Given the description of an element on the screen output the (x, y) to click on. 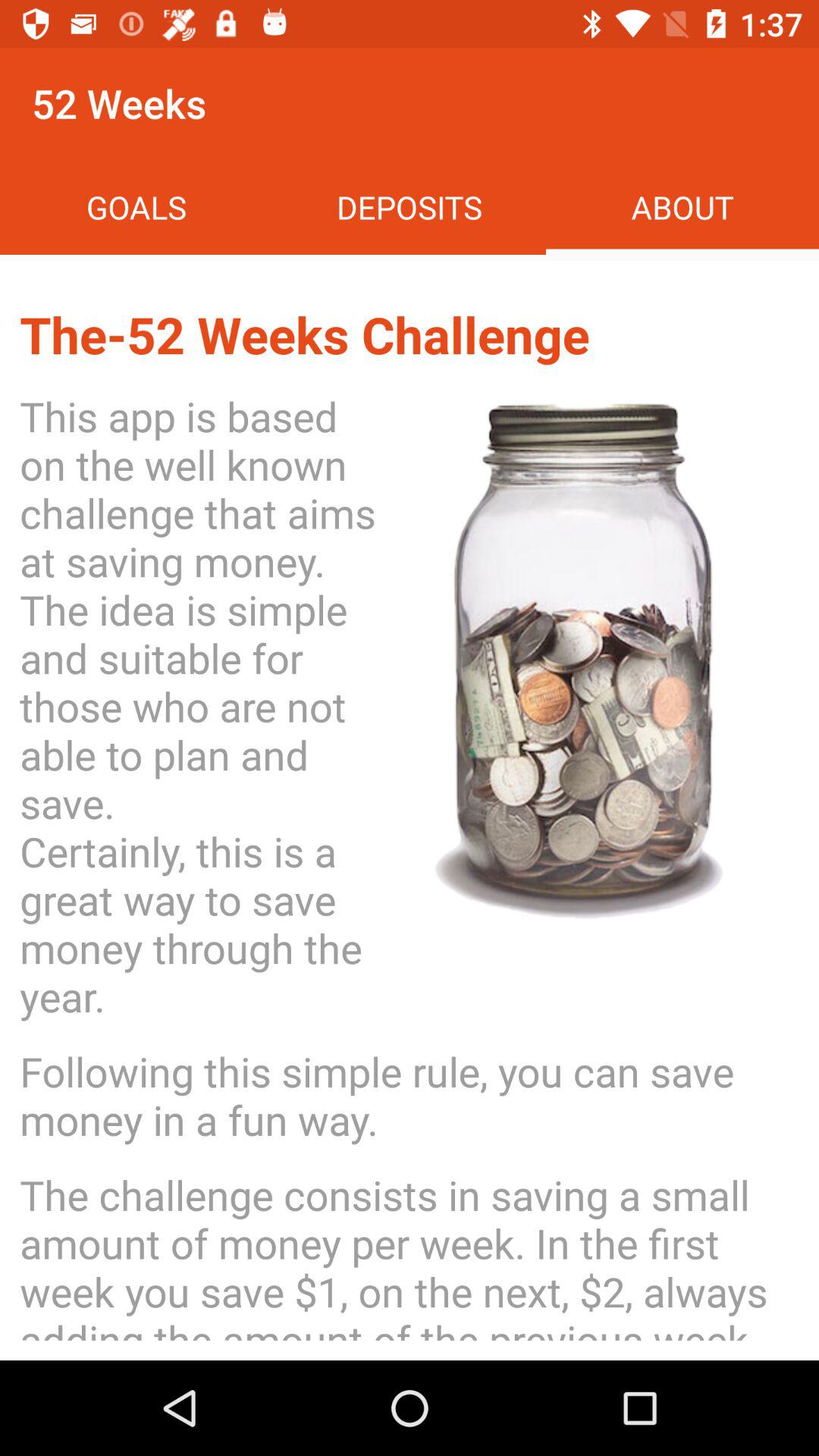
launch the item next to goals icon (409, 206)
